Given the description of an element on the screen output the (x, y) to click on. 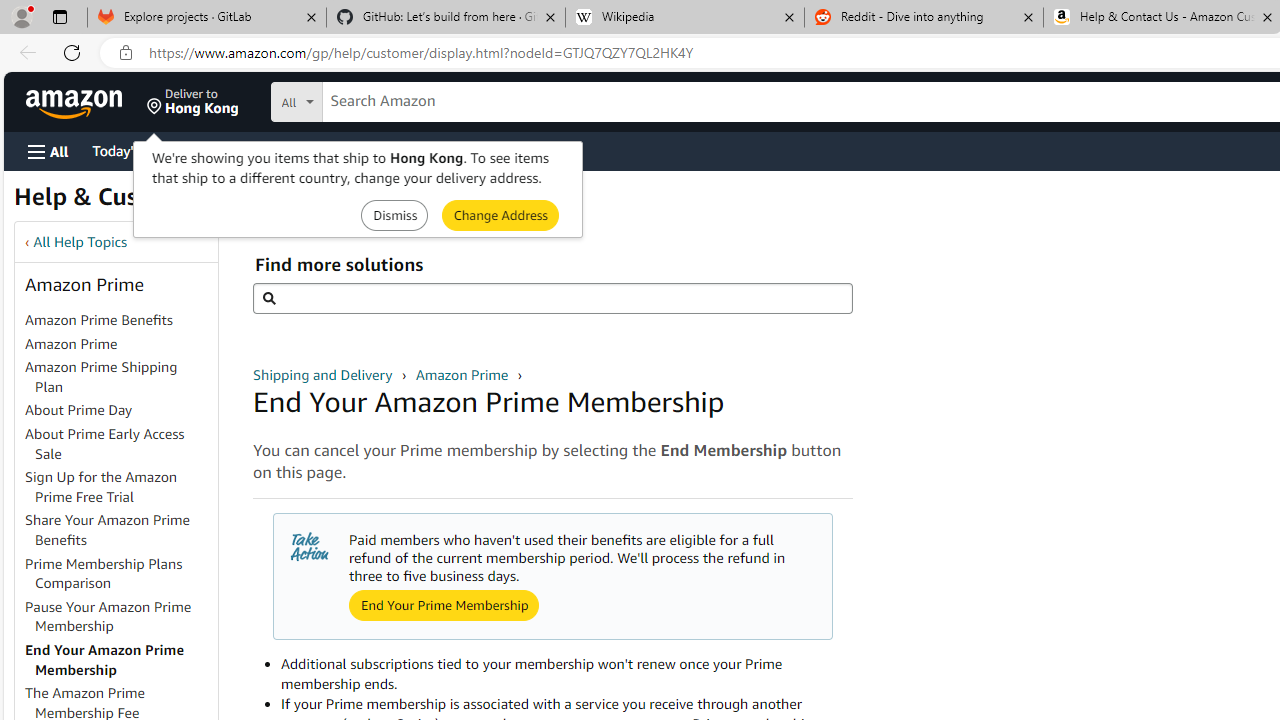
Amazon Prime (120, 344)
Submit (499, 214)
End Your Amazon Prime Membership (120, 660)
Registry (360, 150)
Pause Your Amazon Prime Membership (108, 615)
Amazon Prime (71, 343)
Amazon Prime Benefits (120, 321)
Open Menu (48, 151)
Gift Cards (442, 150)
About Prime Early Access Sale (105, 443)
Today's Deals (134, 150)
Amazon Prime Shipping Plan (101, 376)
Customer Service (256, 150)
